Given the description of an element on the screen output the (x, y) to click on. 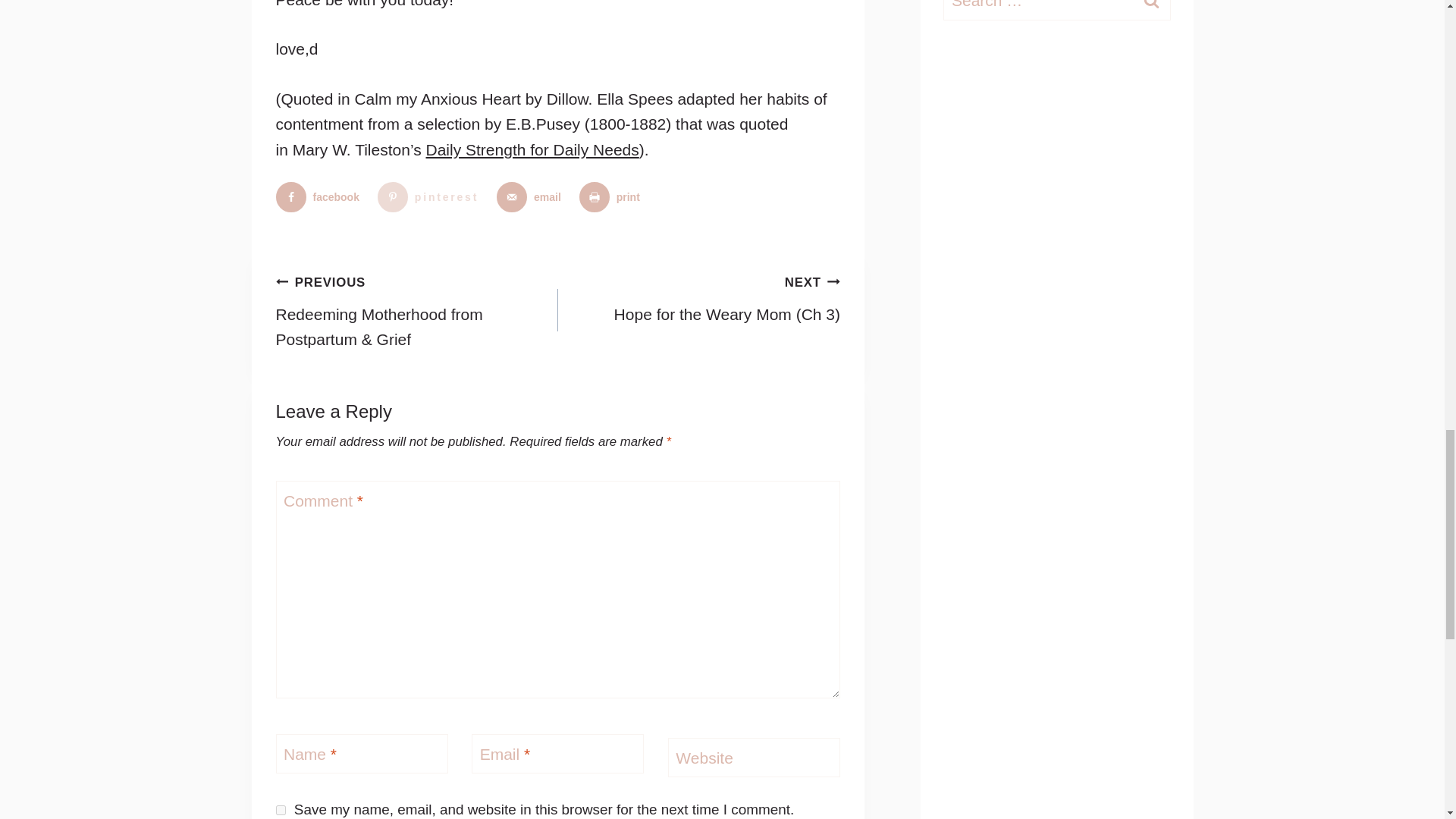
facebook (321, 196)
Print this webpage (612, 196)
Send over email (531, 196)
yes (280, 809)
pinterest (430, 196)
print (612, 196)
Share on Facebook (321, 196)
Search (1151, 7)
email (531, 196)
Search (1151, 7)
